Given the description of an element on the screen output the (x, y) to click on. 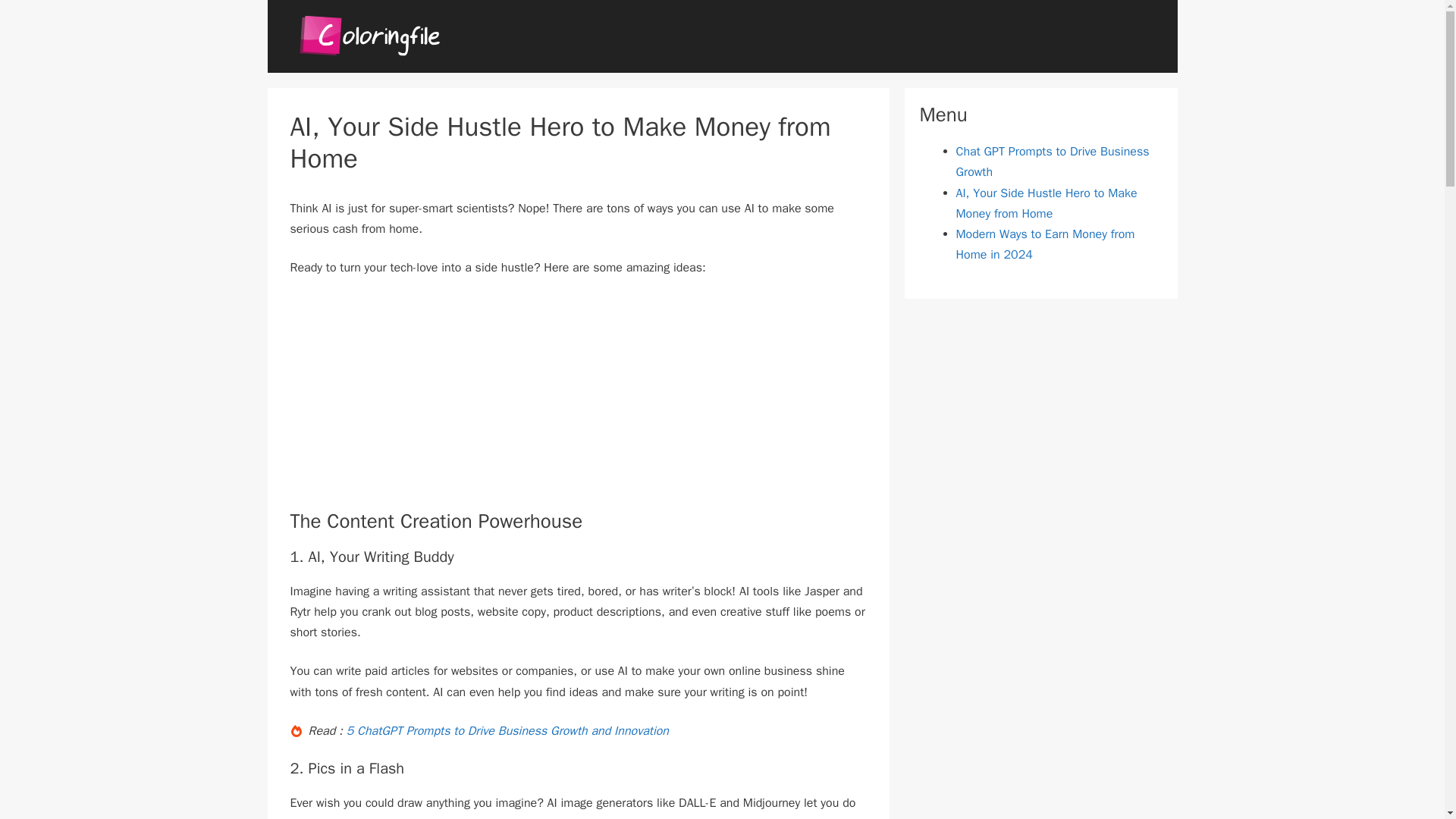
Modern Ways to Earn Money from Home in 2024 (1044, 244)
Advertisement (577, 403)
5 ChatGPT Prompts to Drive Business Growth and Innovation (507, 730)
AI, Your Side Hustle Hero to Make Money from Home (1046, 203)
Chat GPT Prompts to Drive Business Growth (1051, 161)
